Given the description of an element on the screen output the (x, y) to click on. 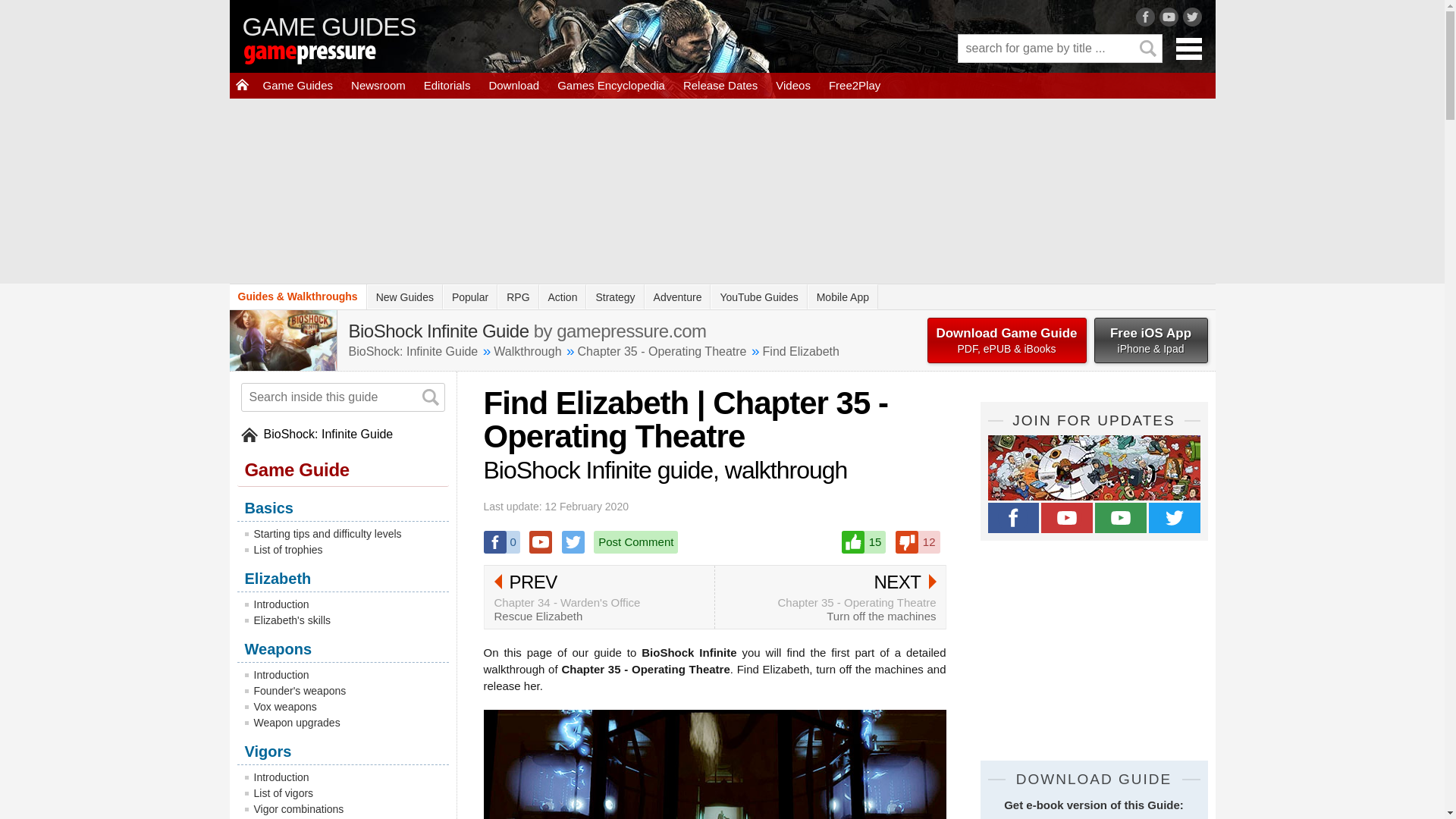
Comments (636, 541)
Videos (793, 85)
Download (513, 85)
Gamepressure.com Twitter (1173, 517)
Mobile App (842, 296)
RPG (517, 296)
Post Comment (636, 541)
Game Guides on Youtube (1120, 517)
Release Dates (720, 85)
